Given the description of an element on the screen output the (x, y) to click on. 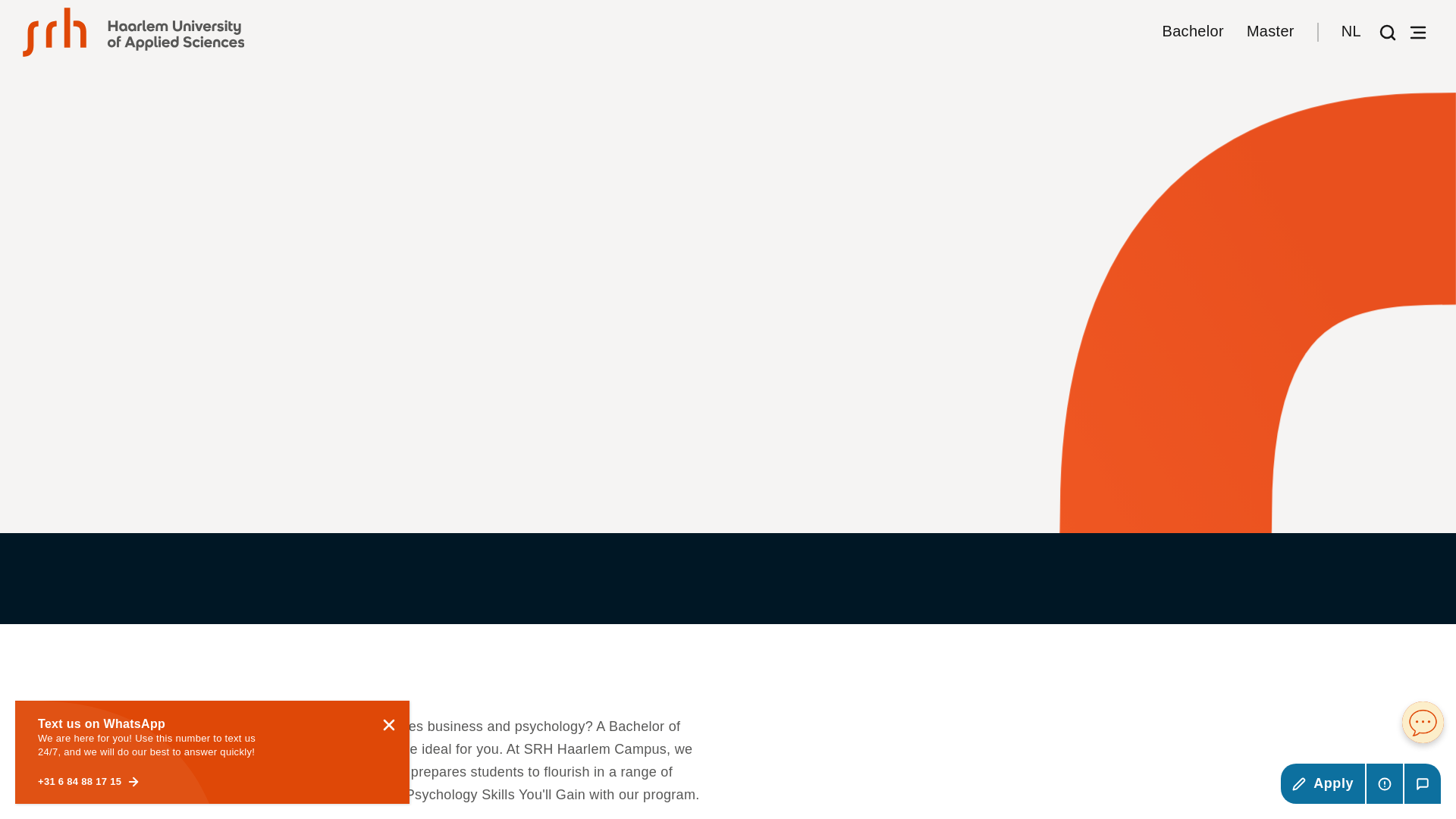
Master (1270, 32)
Bachelor (1192, 32)
SRH Campus Haarlem (133, 31)
